Given the description of an element on the screen output the (x, y) to click on. 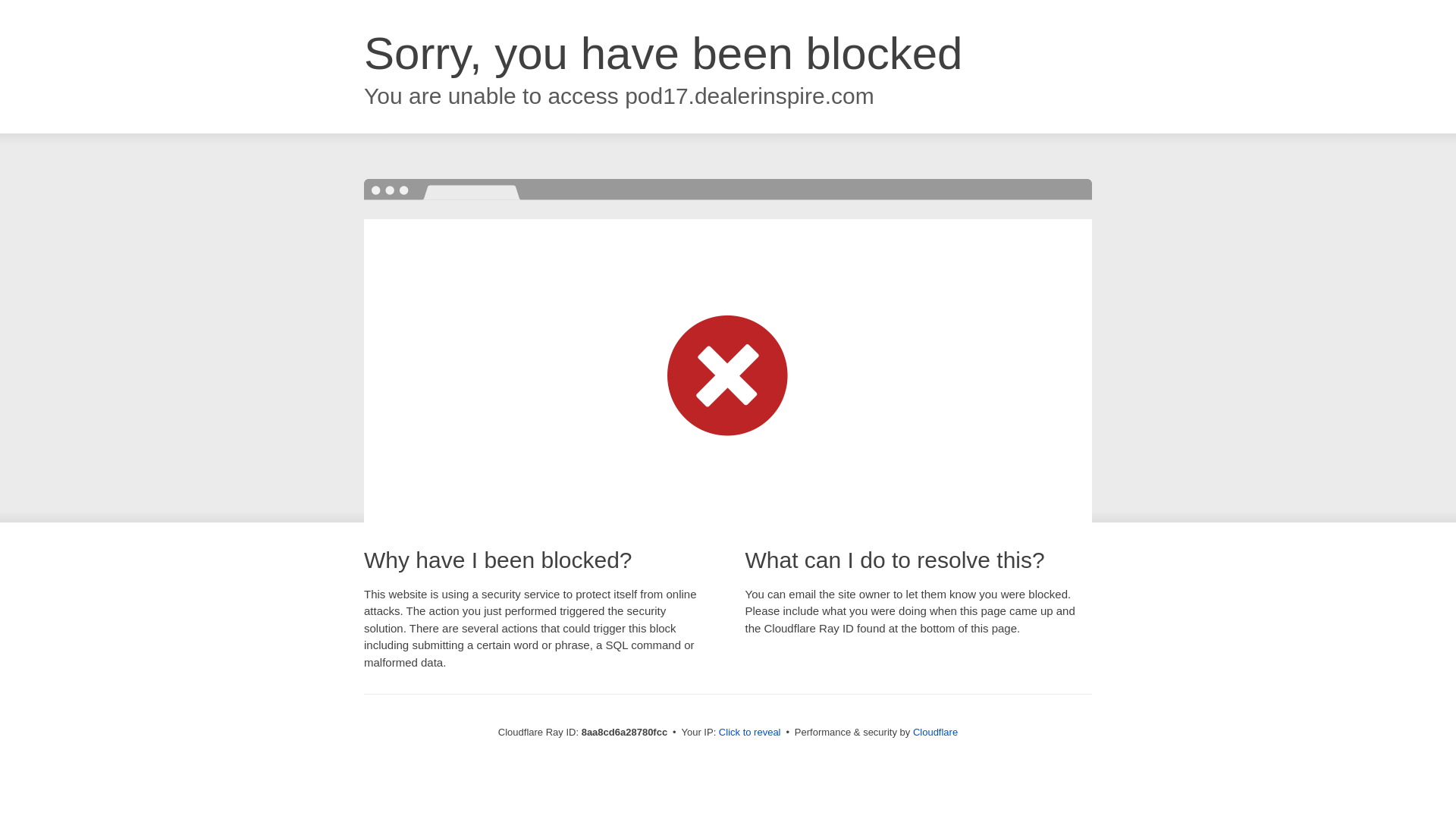
Cloudflare (935, 731)
Click to reveal (749, 732)
